Given the description of an element on the screen output the (x, y) to click on. 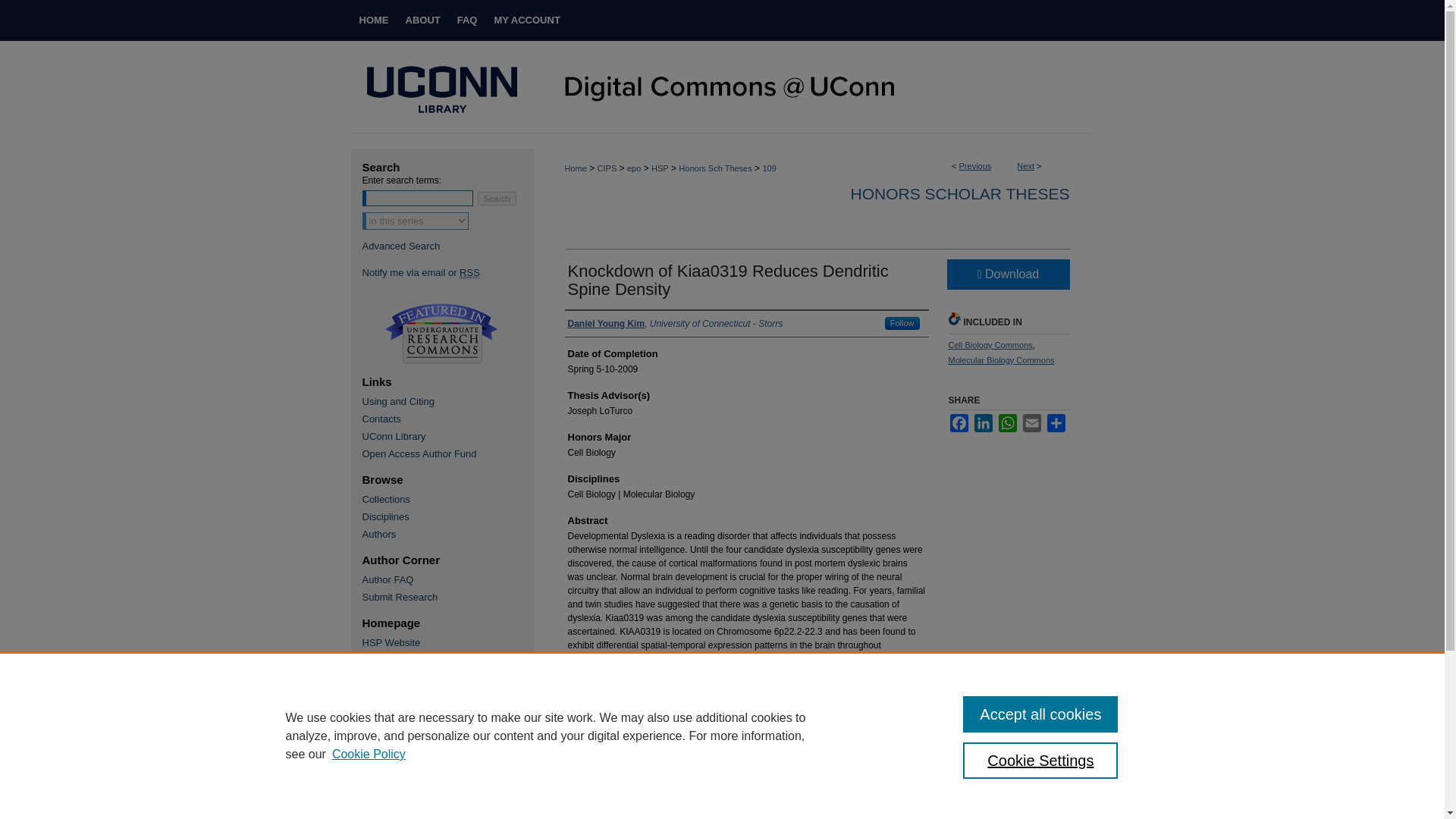
Undergraduate Research Commons (440, 333)
Molecular Biology Commons (1000, 359)
WhatsApp (1006, 423)
Knockdown of Kiaa0319 Reduces Dendritic Spine Density (727, 279)
Cell Biology Commons (989, 344)
My Account (525, 20)
Daniel Young Kim, University of Connecticut - Storrs (675, 323)
Share (1055, 423)
Follow (902, 323)
Follow Daniel Young Kim (902, 323)
MY ACCOUNT (525, 20)
Molecular Biology Commons (1000, 359)
HSP (659, 167)
Home (575, 167)
Search (496, 198)
